Given the description of an element on the screen output the (x, y) to click on. 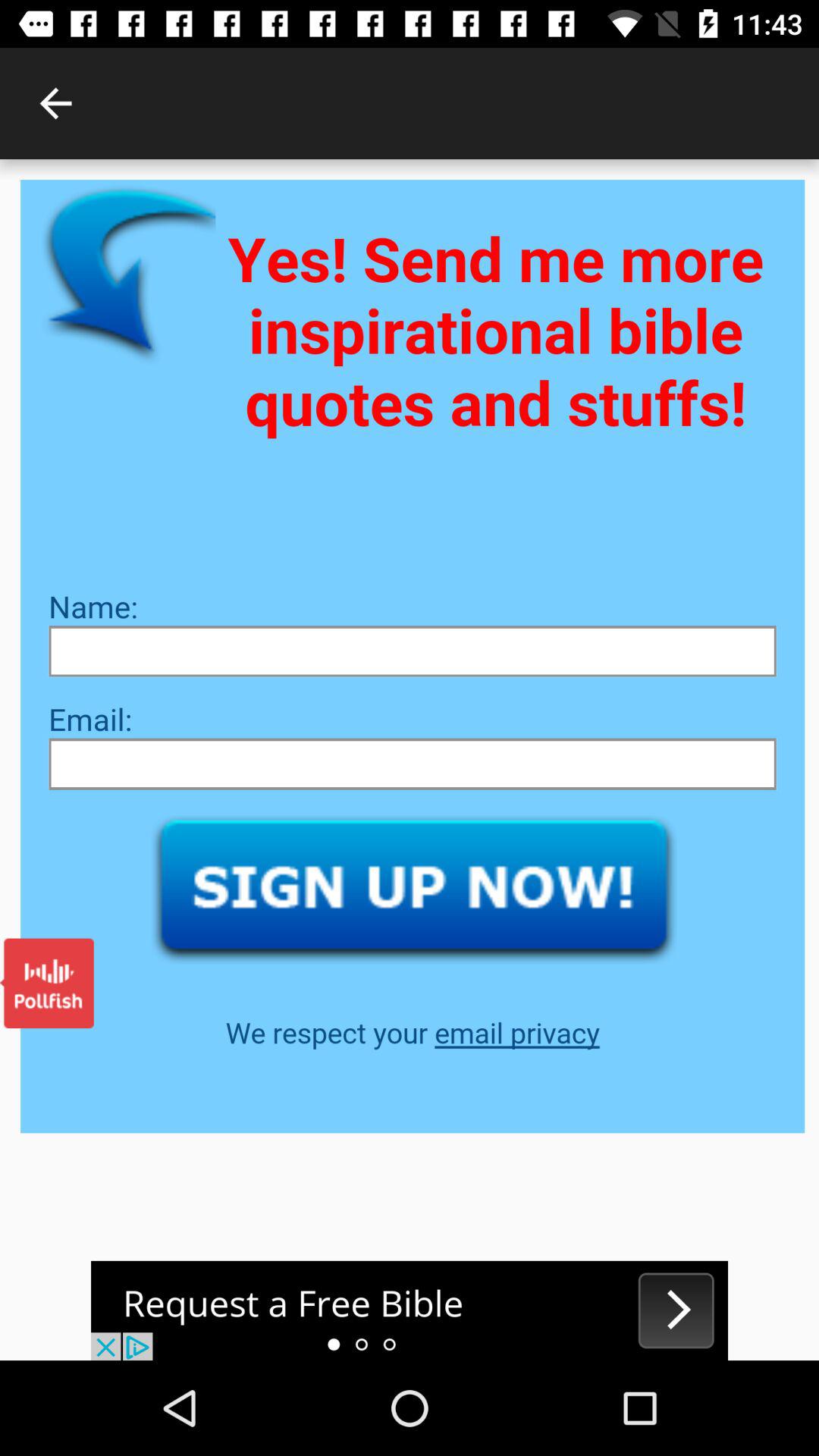
advertisement (409, 1310)
